Given the description of an element on the screen output the (x, y) to click on. 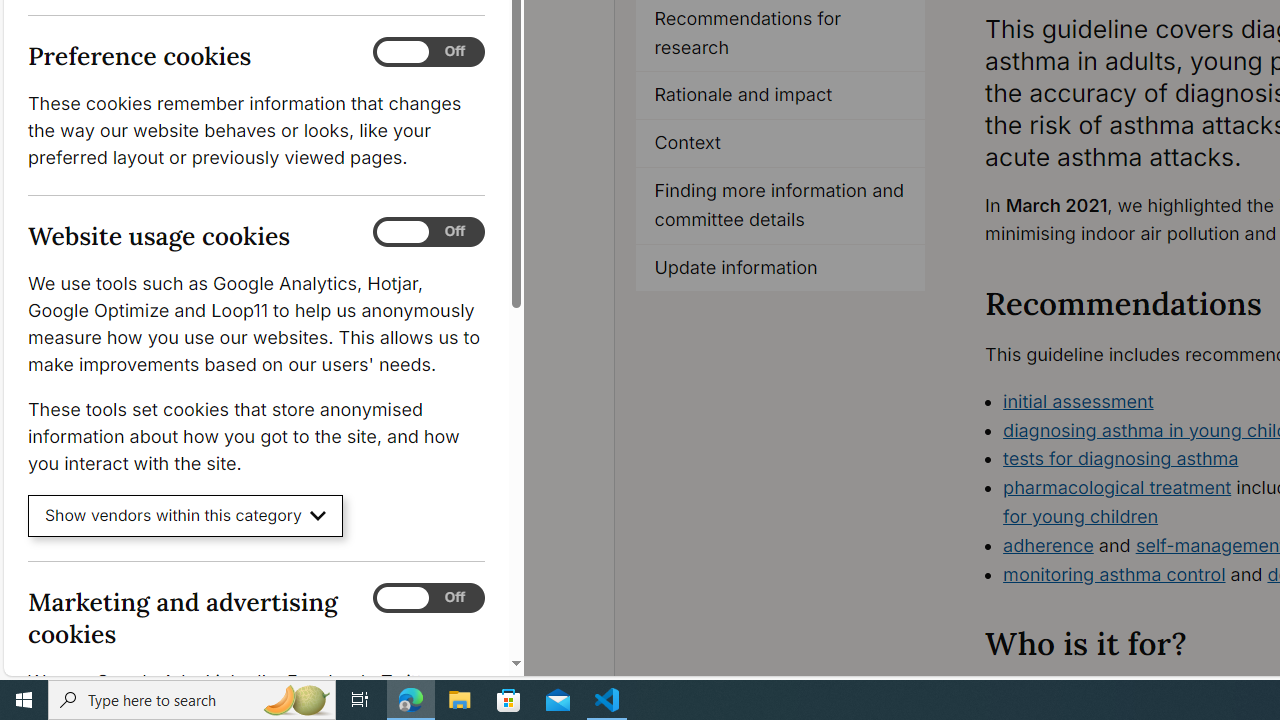
Marketing and advertising cookies (429, 597)
Finding more information and committee details (780, 205)
Context (780, 143)
